Given the description of an element on the screen output the (x, y) to click on. 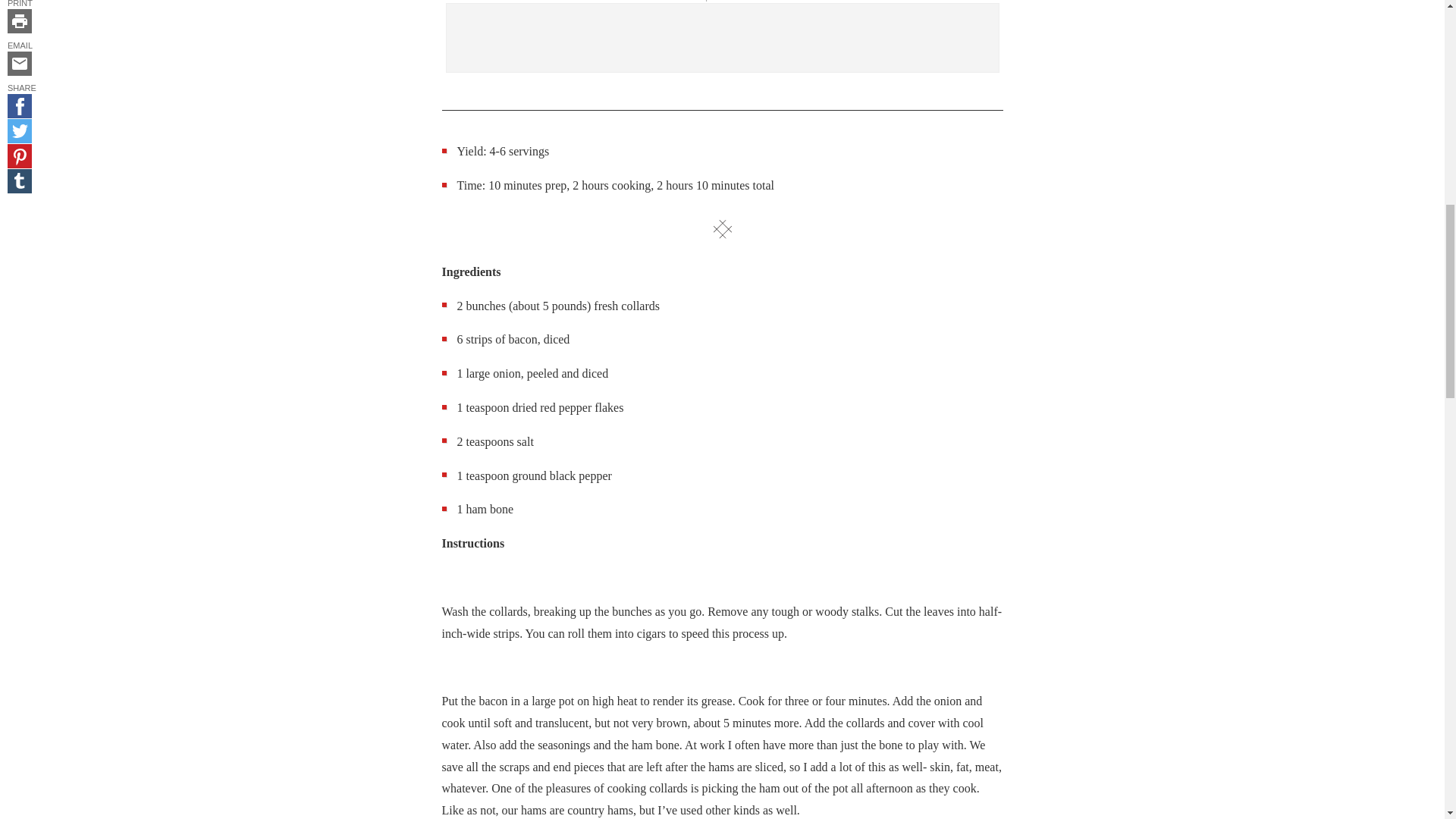
Share on Facebook (19, 105)
Share on Tumblr (19, 180)
Pin it! (19, 156)
Email this (19, 63)
Sponsor us (721, 0)
Share on Twitter (19, 130)
